Given the description of an element on the screen output the (x, y) to click on. 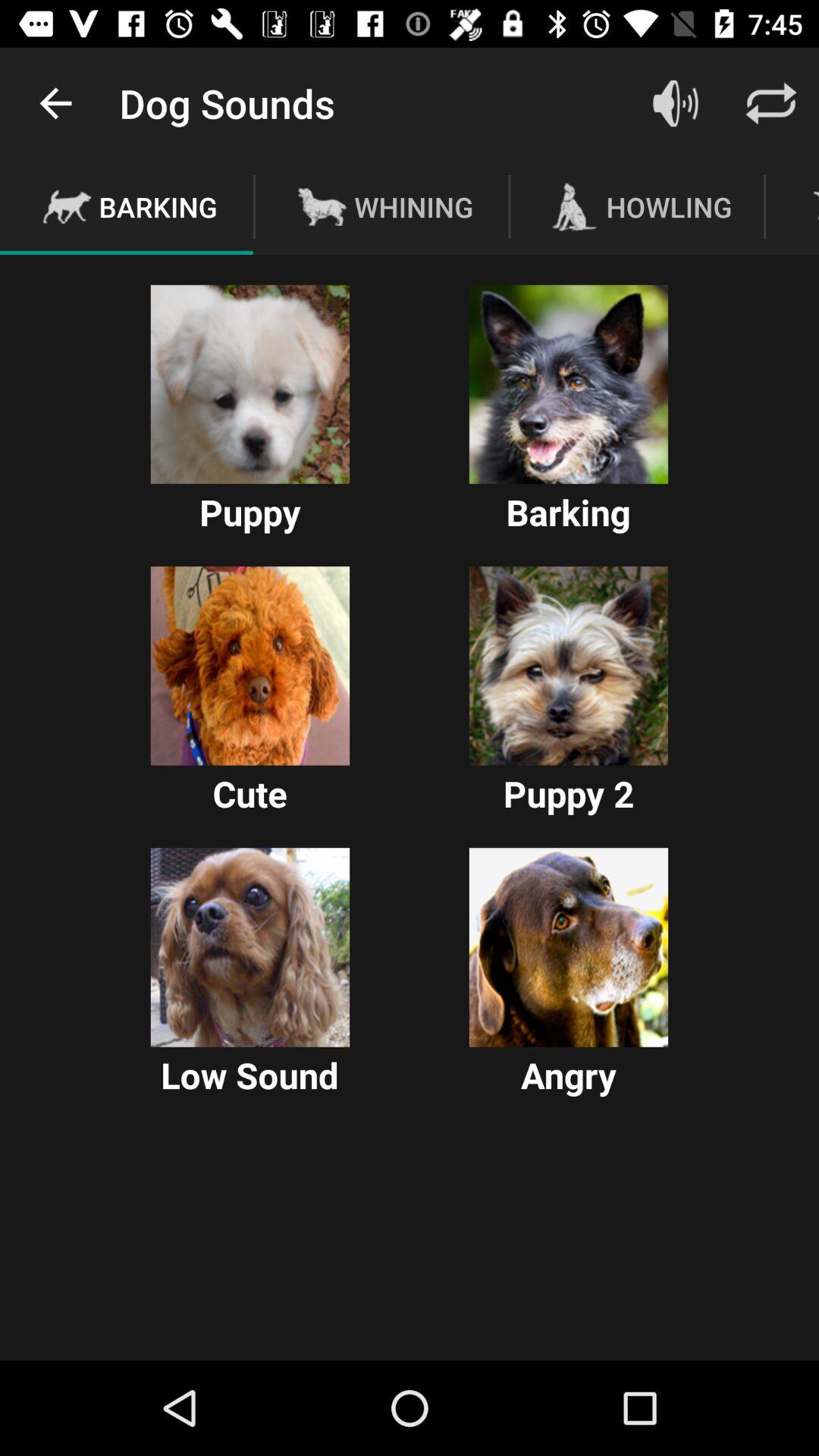
tells user the sound it will make (568, 384)
